Given the description of an element on the screen output the (x, y) to click on. 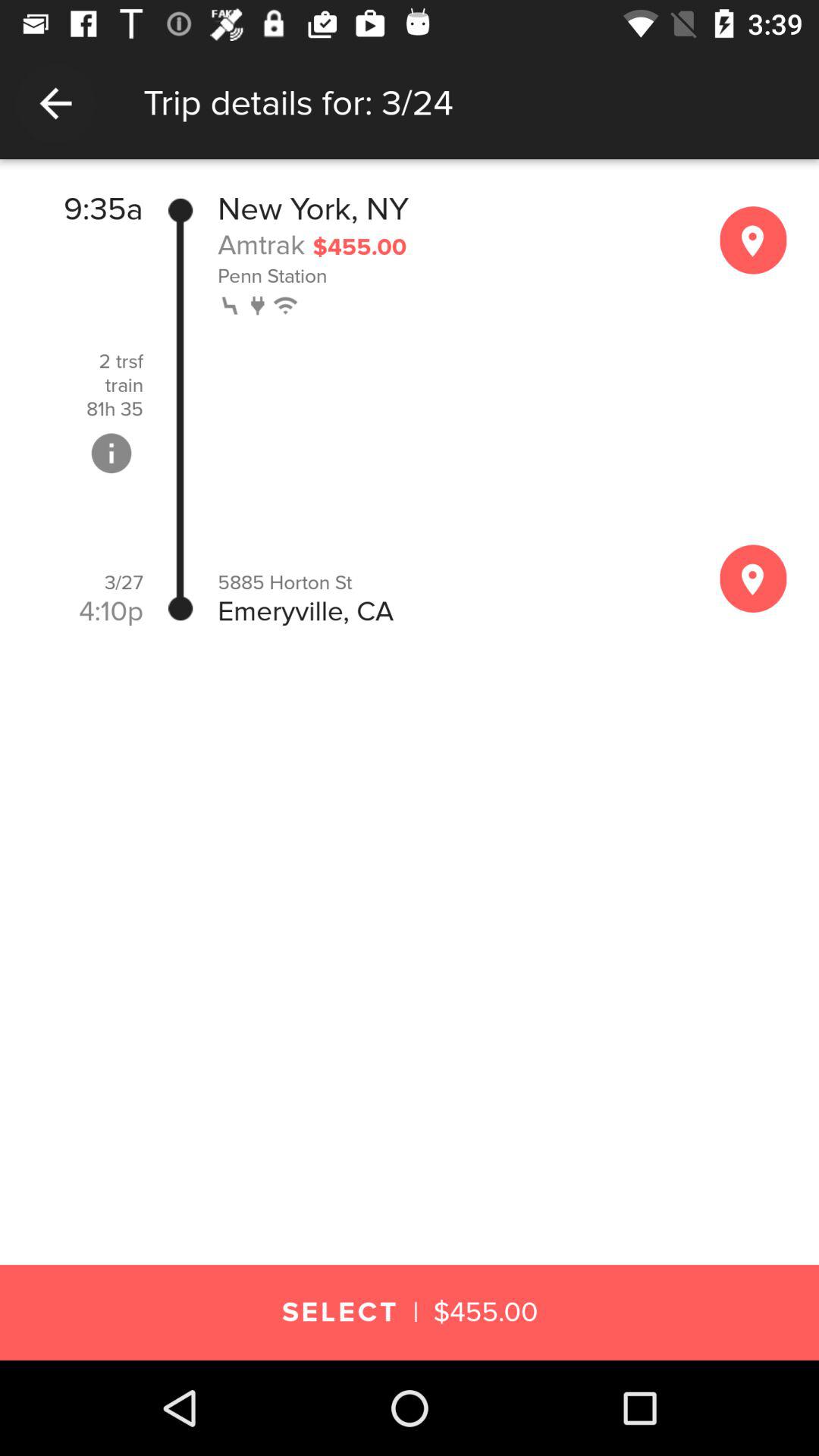
click item below the 3/27 item (111, 611)
